Given the description of an element on the screen output the (x, y) to click on. 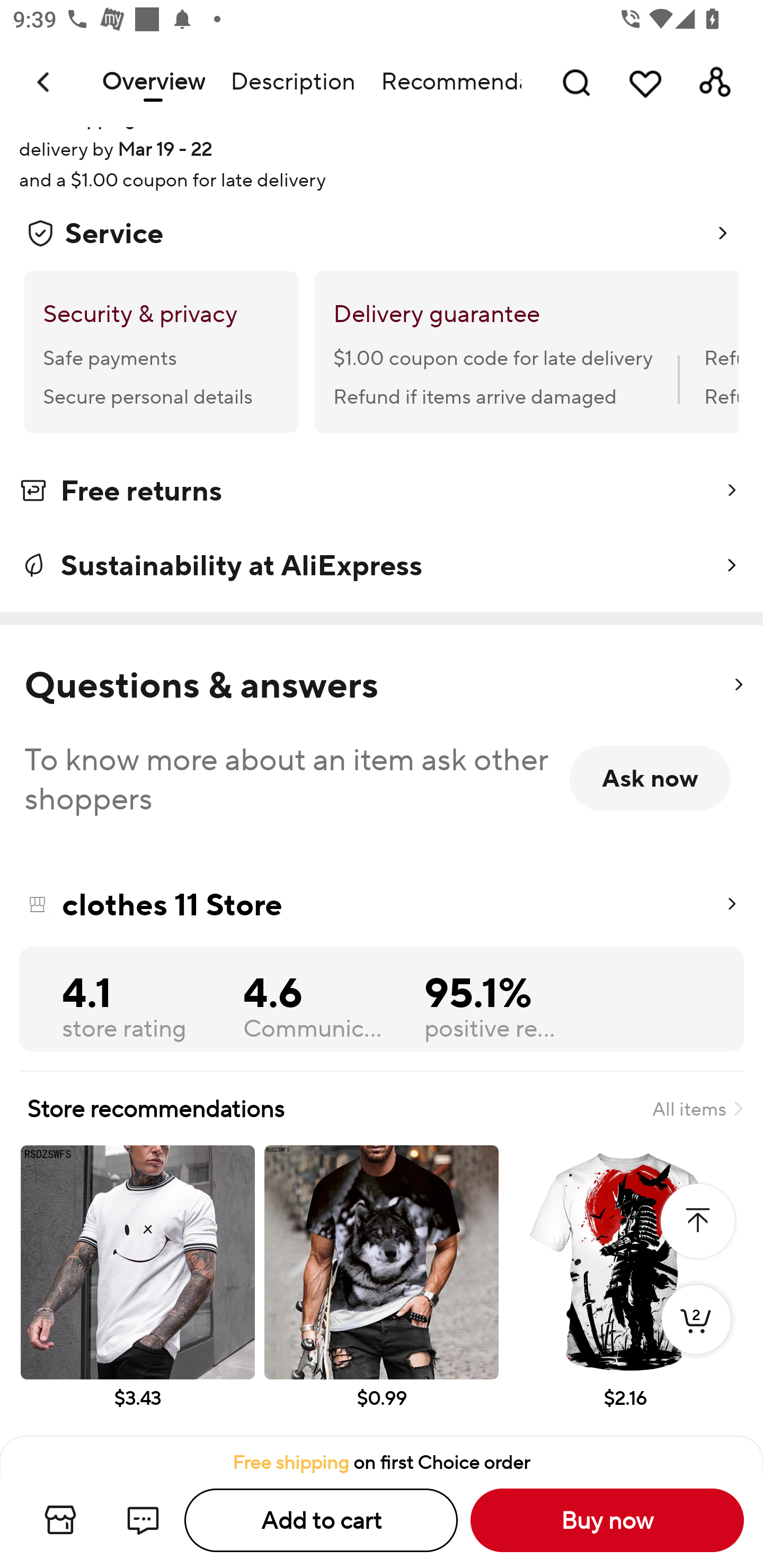
Navigate up (44, 82)
Description (292, 81)
Recommendations (444, 81)
Free returns  (381, 493)
Sustainability at AliExpress  (381, 566)
 (737, 684)
Ask now (649, 778)
All items (697, 1108)
$3.43 (137, 1290)
$0.99 (381, 1290)
$2.16 (625, 1290)
 (697, 1220)
2 (695, 1338)
Add to cart (320, 1520)
Buy now (606, 1520)
